Given the description of an element on the screen output the (x, y) to click on. 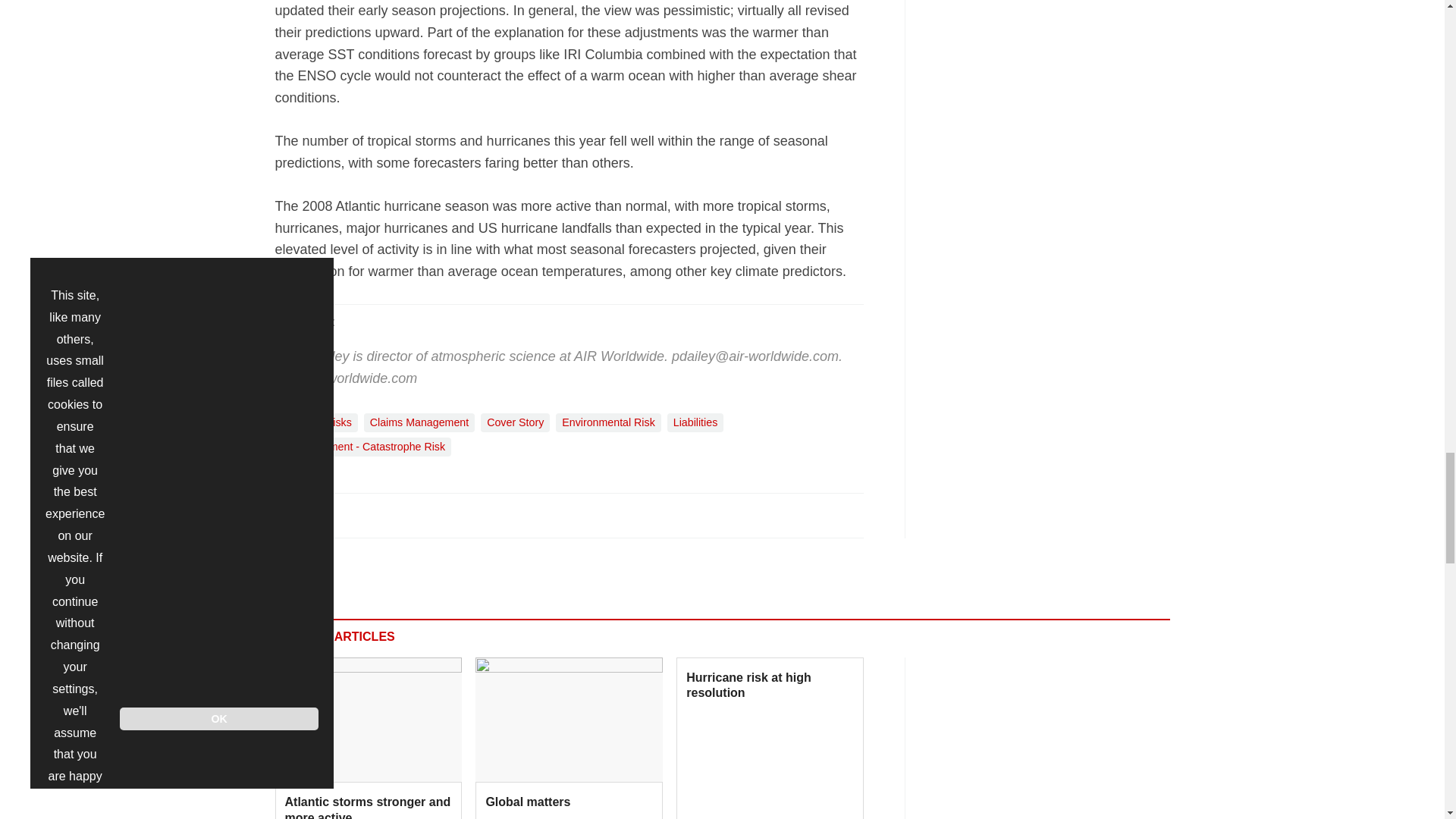
Email this article (386, 514)
Share this on Linked in (352, 514)
Share this on Twitter (320, 514)
Share this on Facebook (288, 514)
